Given the description of an element on the screen output the (x, y) to click on. 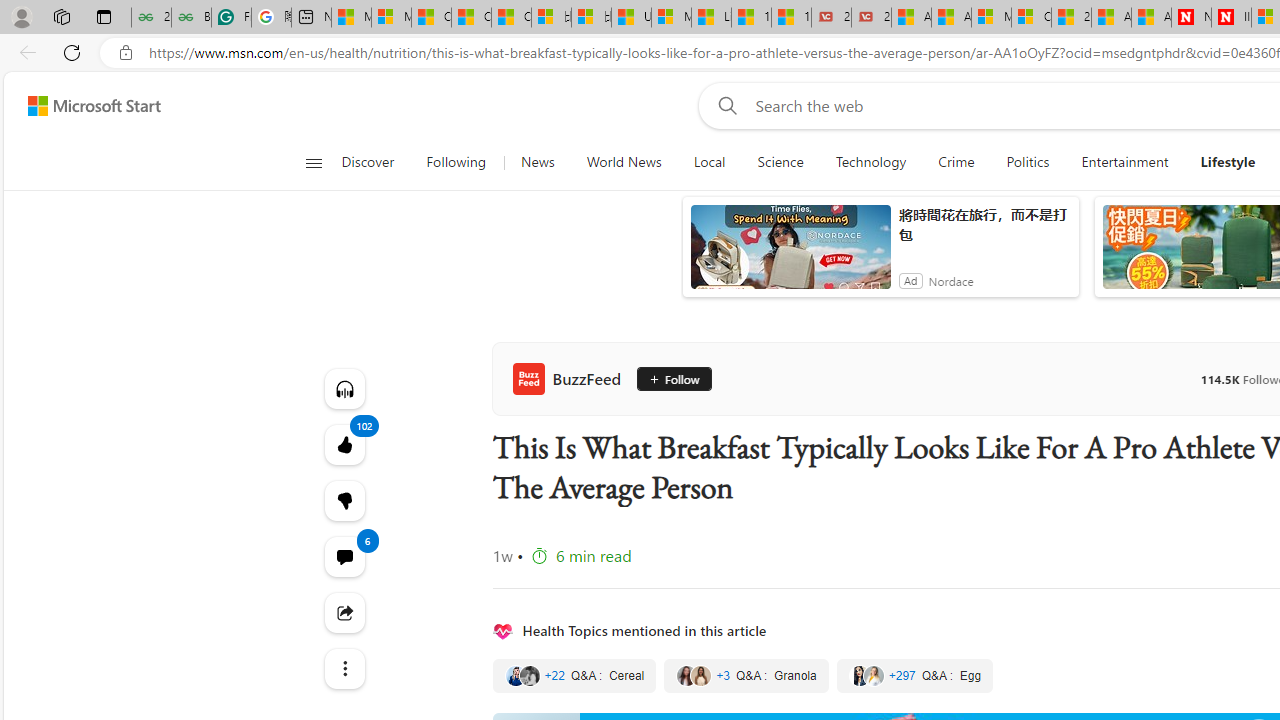
21 Movies That Outdid the Books They Were Based On (871, 17)
Egg (914, 675)
anim-content (789, 255)
